Given the description of an element on the screen output the (x, y) to click on. 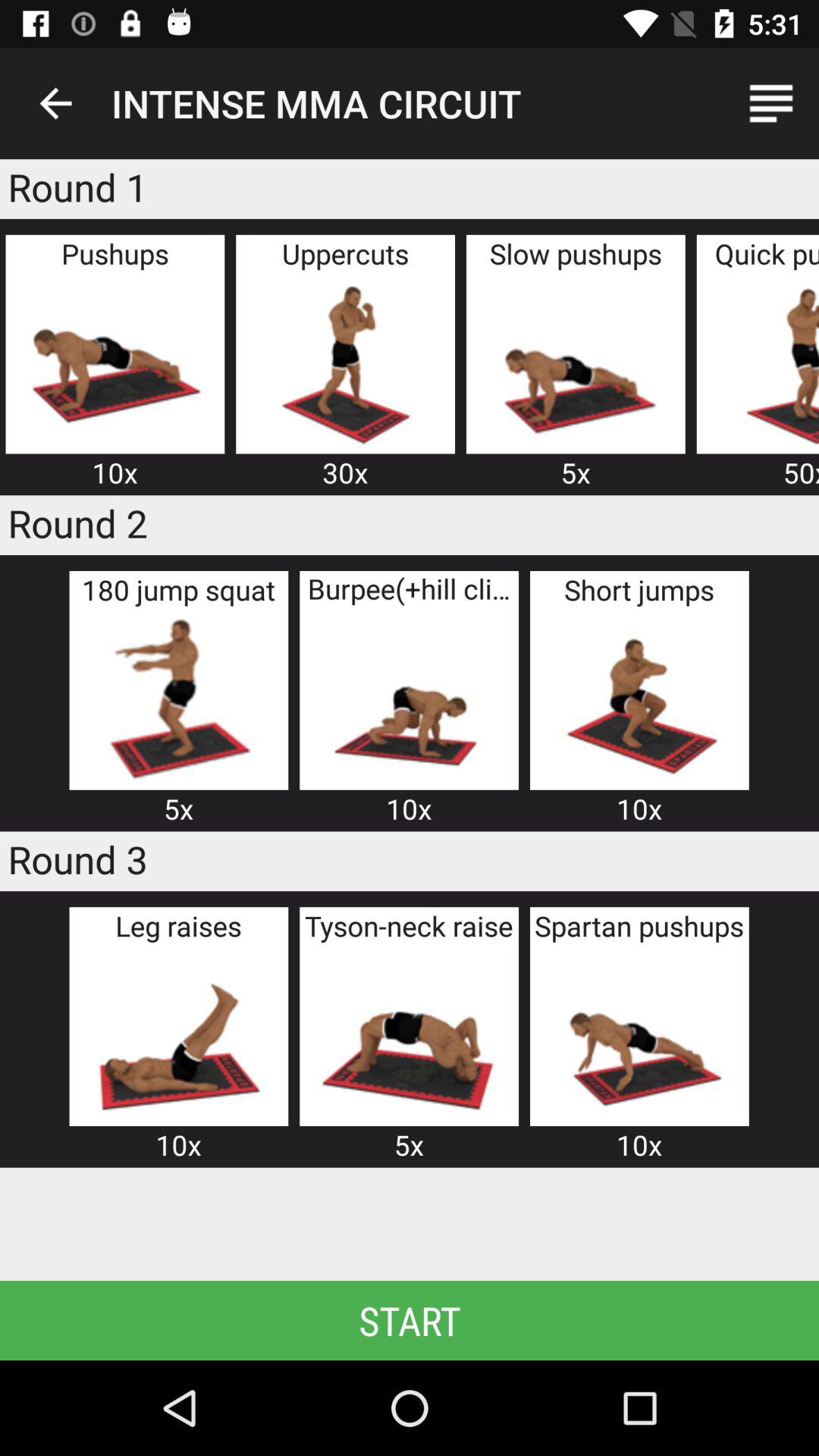
open the icon below uppercuts icon (344, 362)
